Given the description of an element on the screen output the (x, y) to click on. 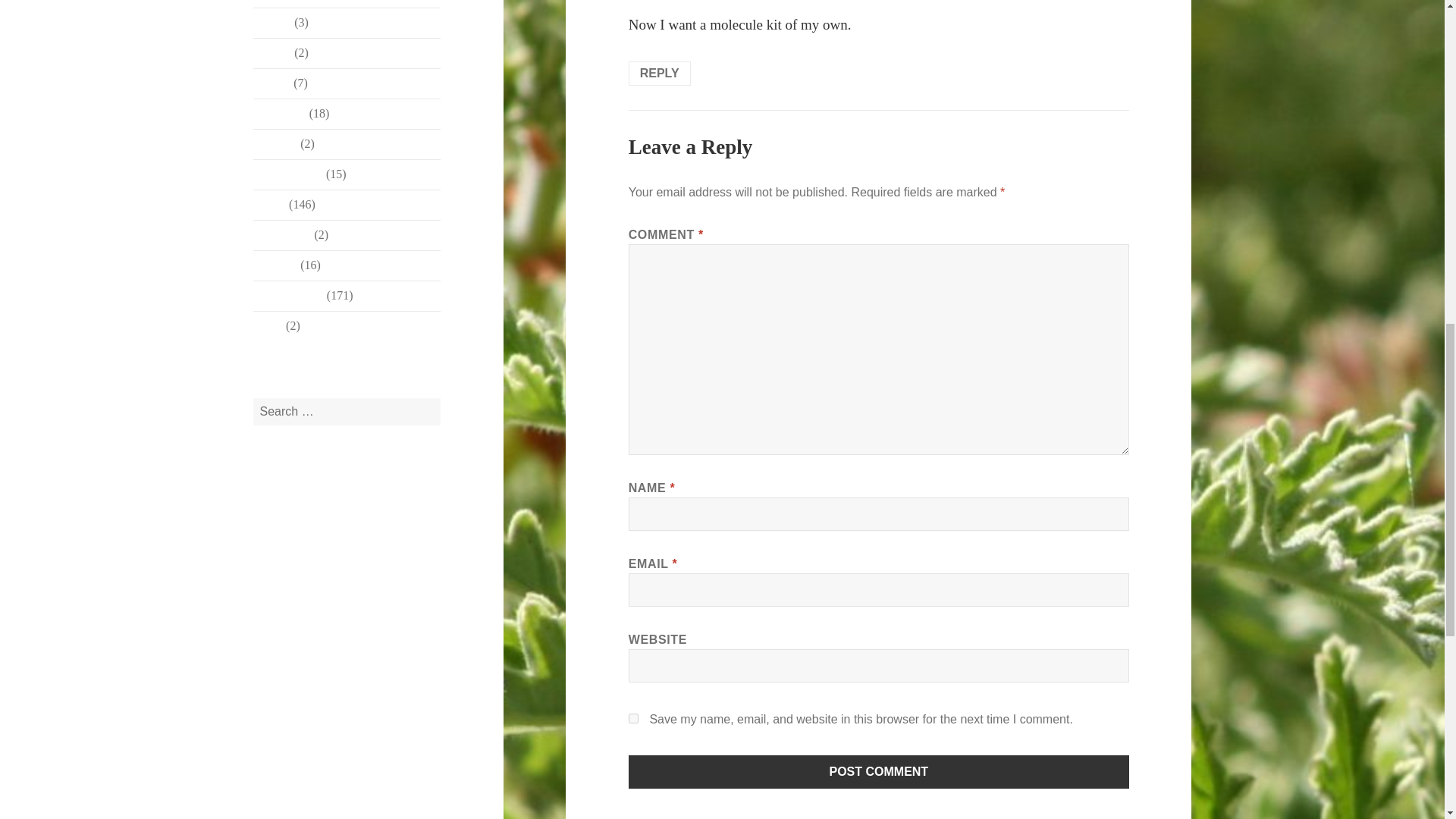
FBFeed (272, 21)
Tweets by meganknight (311, 495)
Research (275, 264)
World (268, 325)
Photos (269, 204)
FBPage (272, 51)
Uncategorized (288, 295)
LinkedIn (275, 143)
Miscellaneous (288, 173)
Post Comment (878, 771)
yes (633, 718)
Internet (272, 82)
Reading list (282, 234)
